Given the description of an element on the screen output the (x, y) to click on. 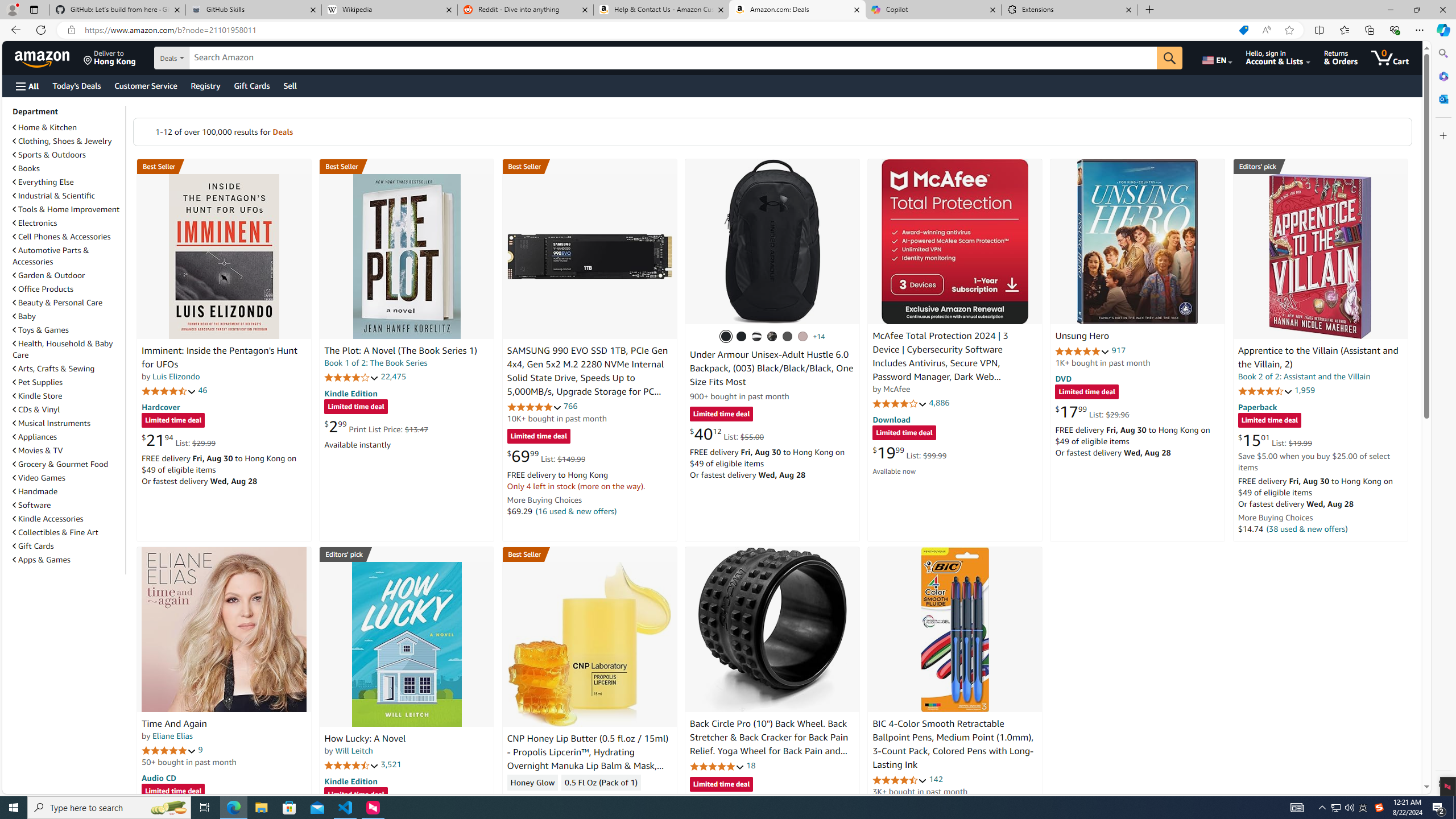
Returns & Orders (1340, 57)
Luis Elizondo (175, 376)
Customer Service (145, 85)
4.7 out of 5 stars (168, 390)
Apprentice to the Villain (Assistant and the Villain, 2) (1319, 256)
Video Games (67, 477)
Will Leitch (353, 750)
Apps & Games (41, 559)
Sell (290, 85)
Automotive Parts & Accessories (67, 255)
1,959 (1305, 390)
